Given the description of an element on the screen output the (x, y) to click on. 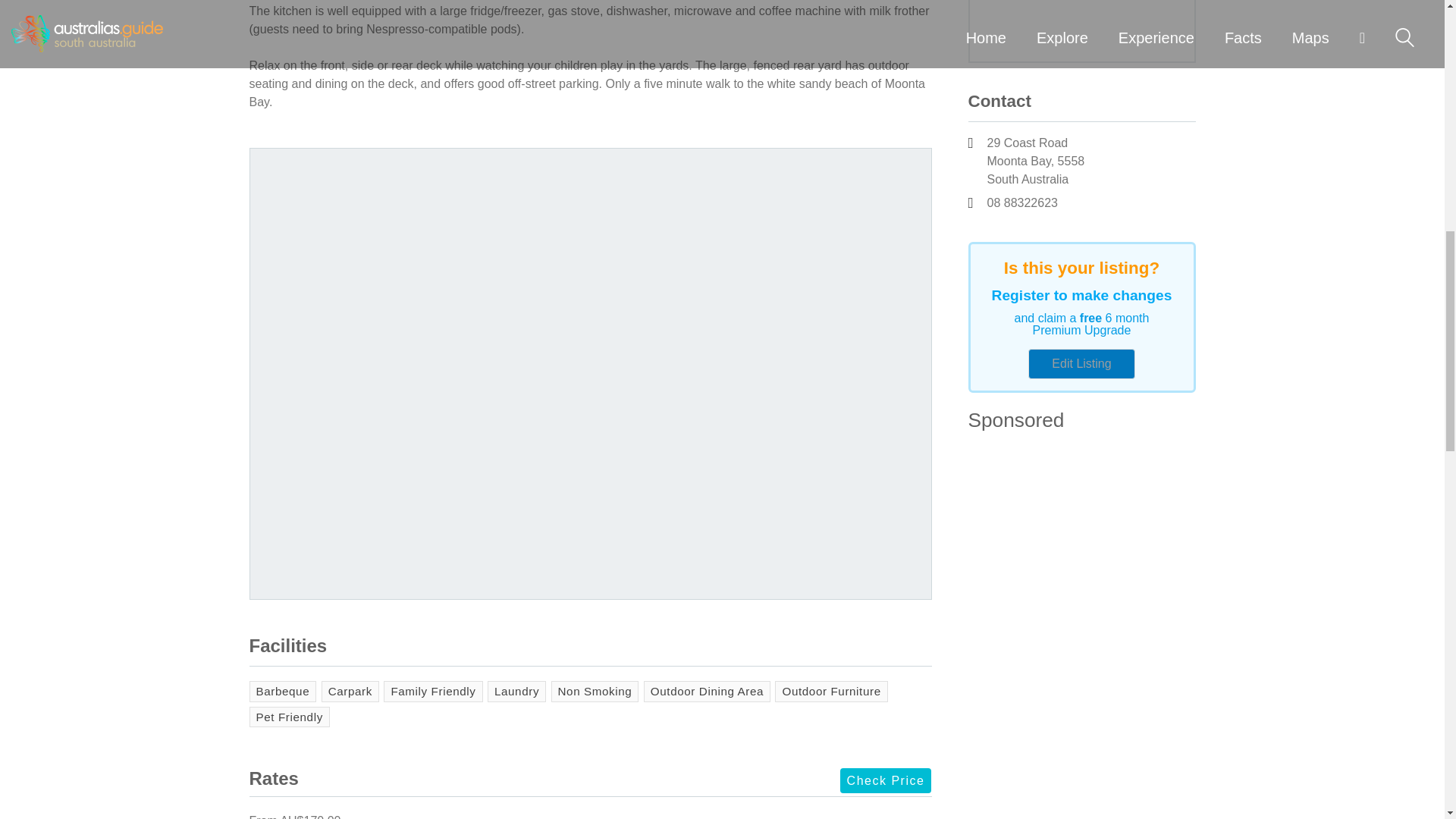
Check Price (885, 780)
Edit Listing (1080, 363)
